Given the description of an element on the screen output the (x, y) to click on. 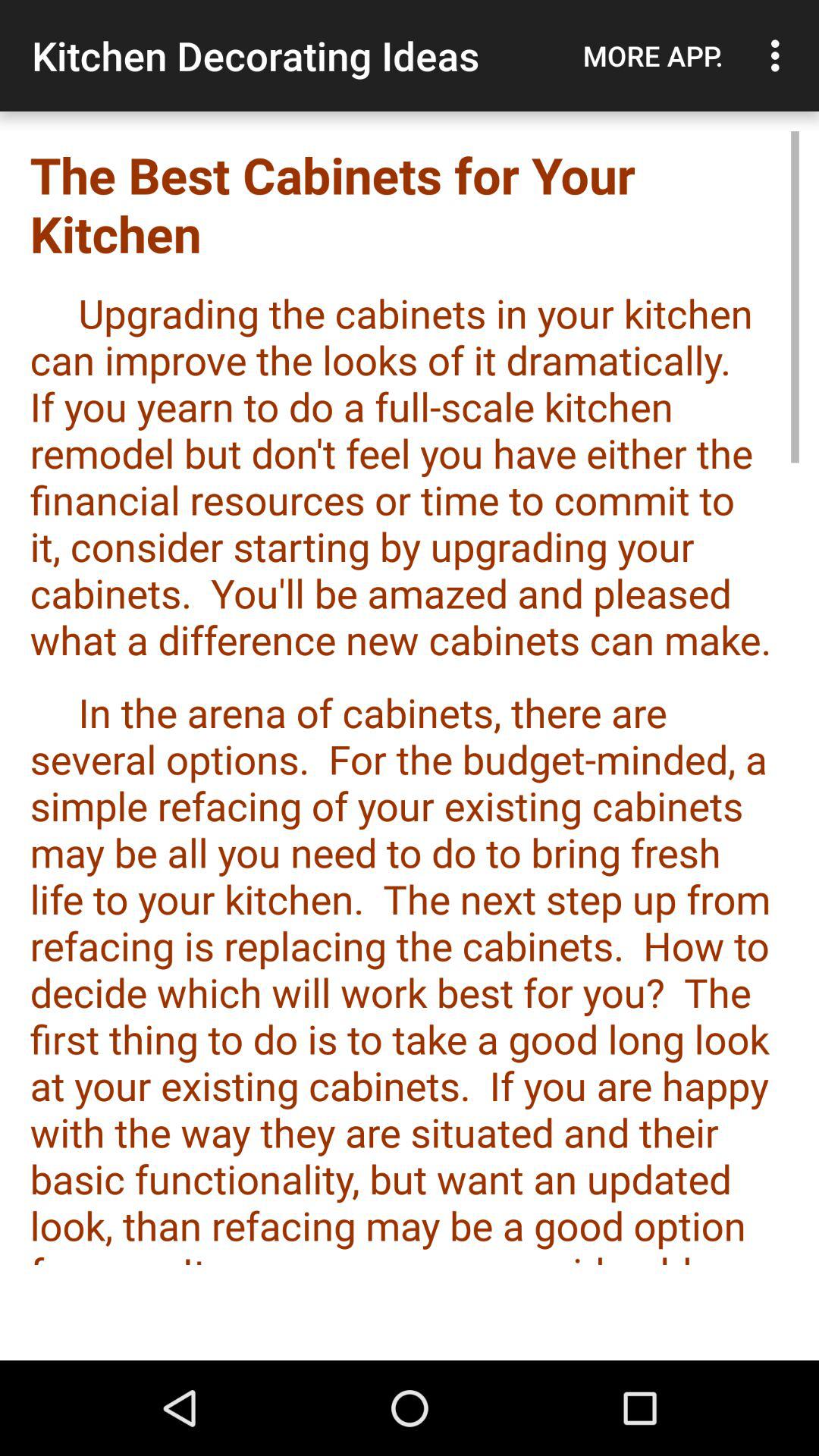
swipe to the more app. item (653, 55)
